Given the description of an element on the screen output the (x, y) to click on. 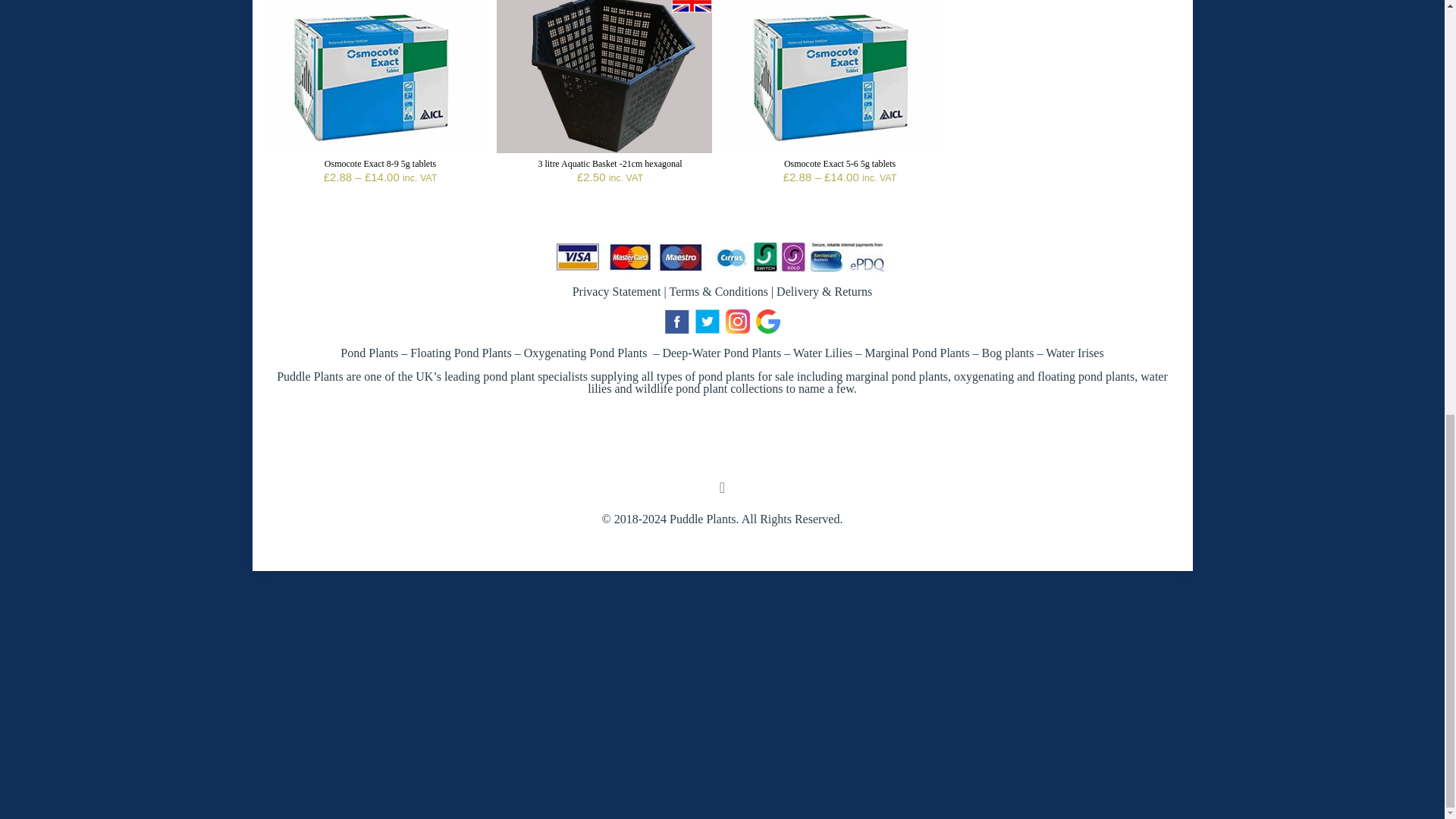
3 litre Aquatic Basket -21cm hexagonal (609, 163)
Osmocote Exact 5-6 5g tablets (839, 163)
Osmocote Exact 8-9 5g tablets (379, 163)
